Given the description of an element on the screen output the (x, y) to click on. 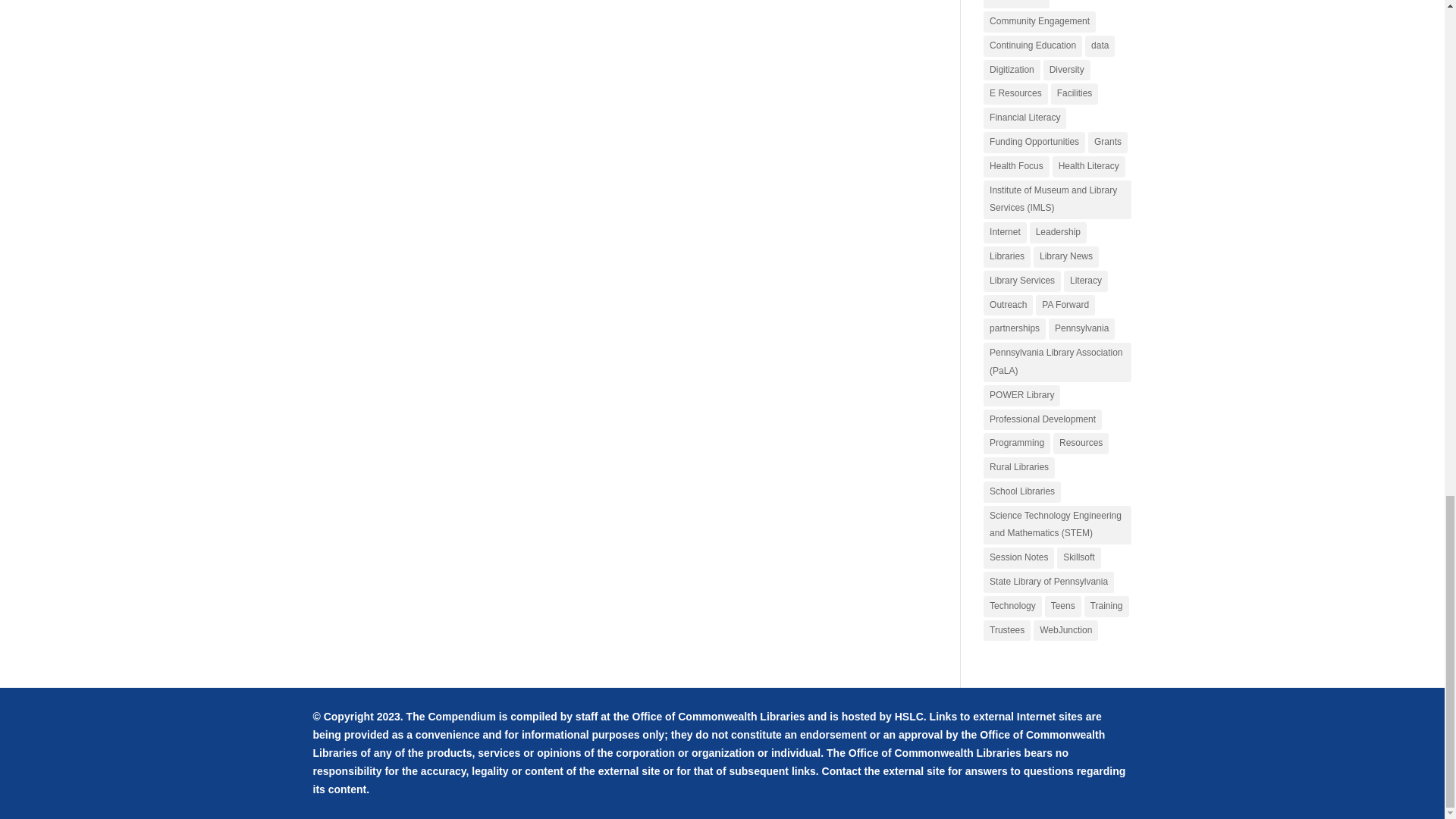
Diversity (1066, 70)
Continuing Education (1032, 46)
Collaboration (1016, 4)
data (1099, 46)
Digitization (1012, 70)
Community Engagement (1040, 21)
